Given the description of an element on the screen output the (x, y) to click on. 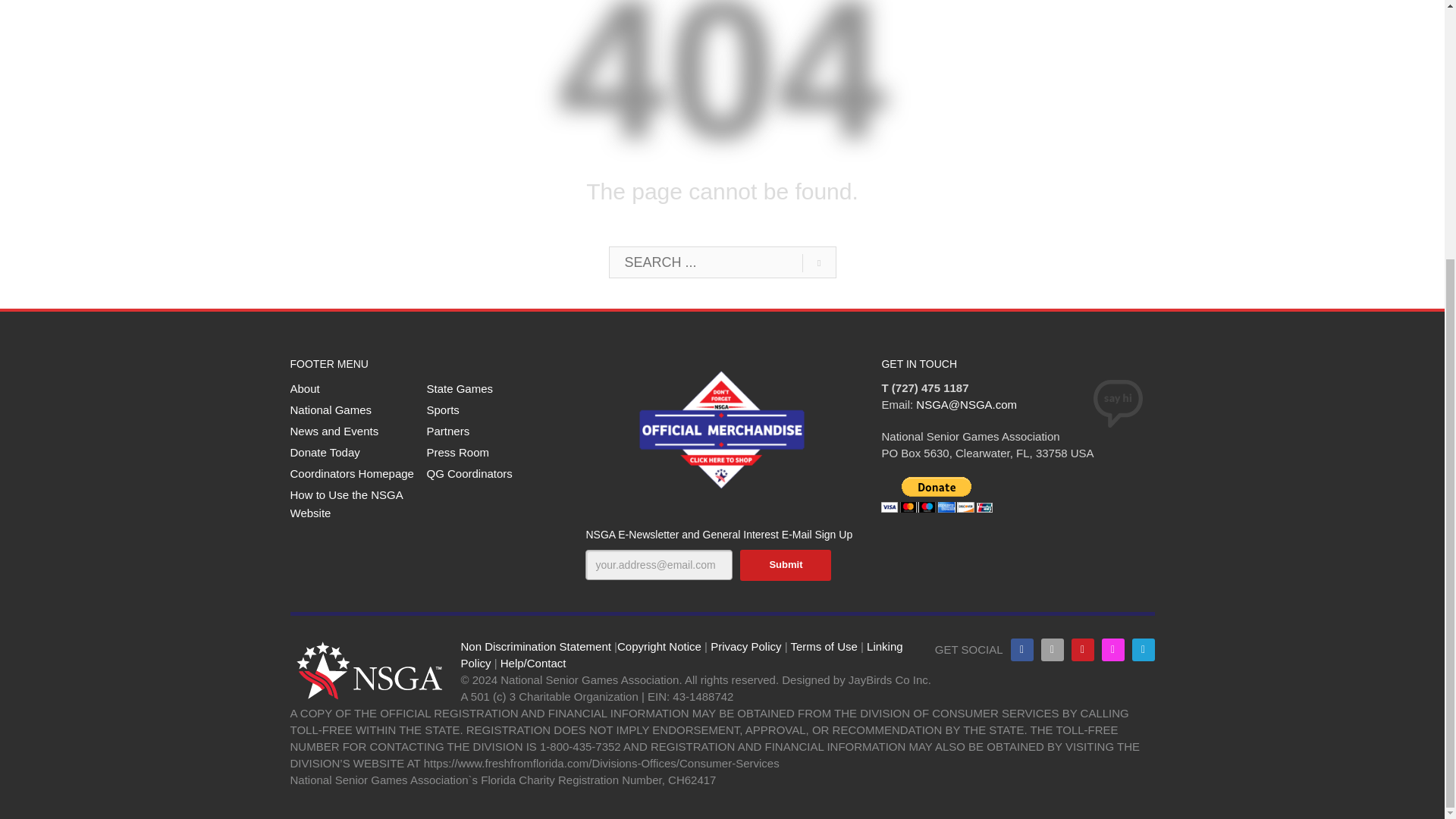
Follow our tweets! (1051, 649)
Submit (785, 564)
Like us on Facebook! (1021, 649)
Instagram (1112, 649)
PayPal - The safer, easier way to pay online! (936, 494)
Youtube (1081, 649)
